Given the description of an element on the screen output the (x, y) to click on. 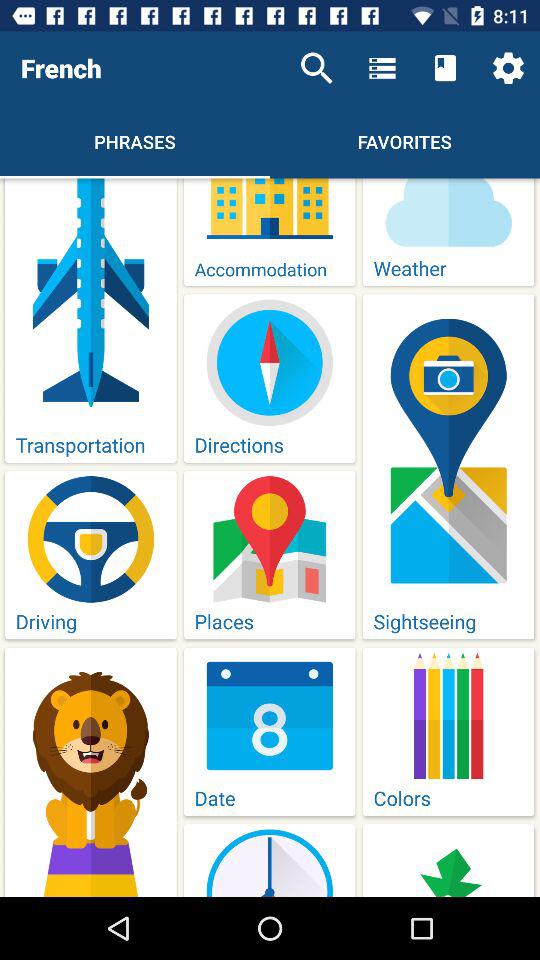
open icon next to french icon (316, 67)
